Given the description of an element on the screen output the (x, y) to click on. 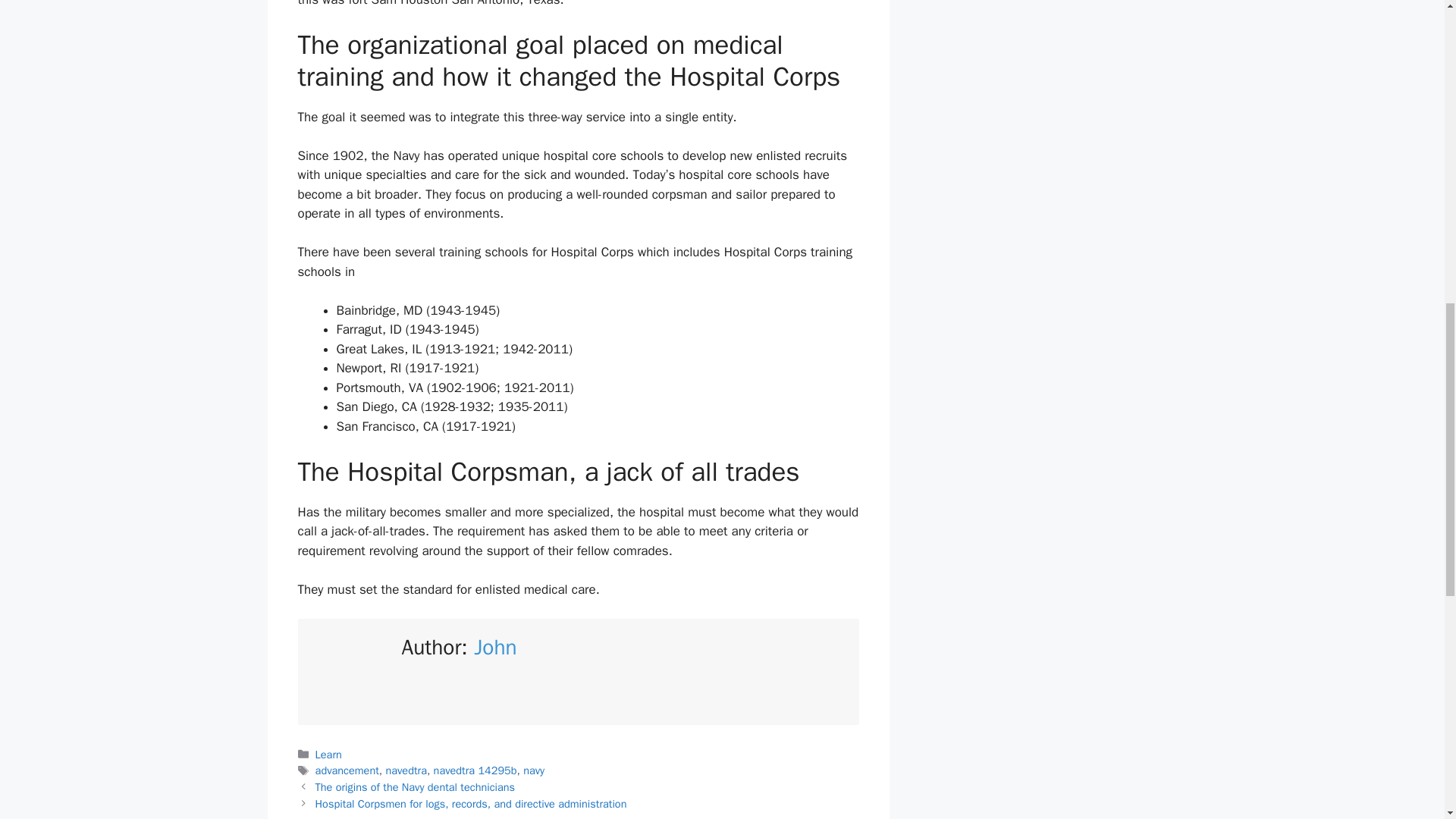
navedtra (405, 770)
John (495, 646)
Learn (328, 754)
The origins of the Navy dental technicians (415, 786)
advancement (346, 770)
navy (533, 770)
navedtra 14295b (474, 770)
